Given the description of an element on the screen output the (x, y) to click on. 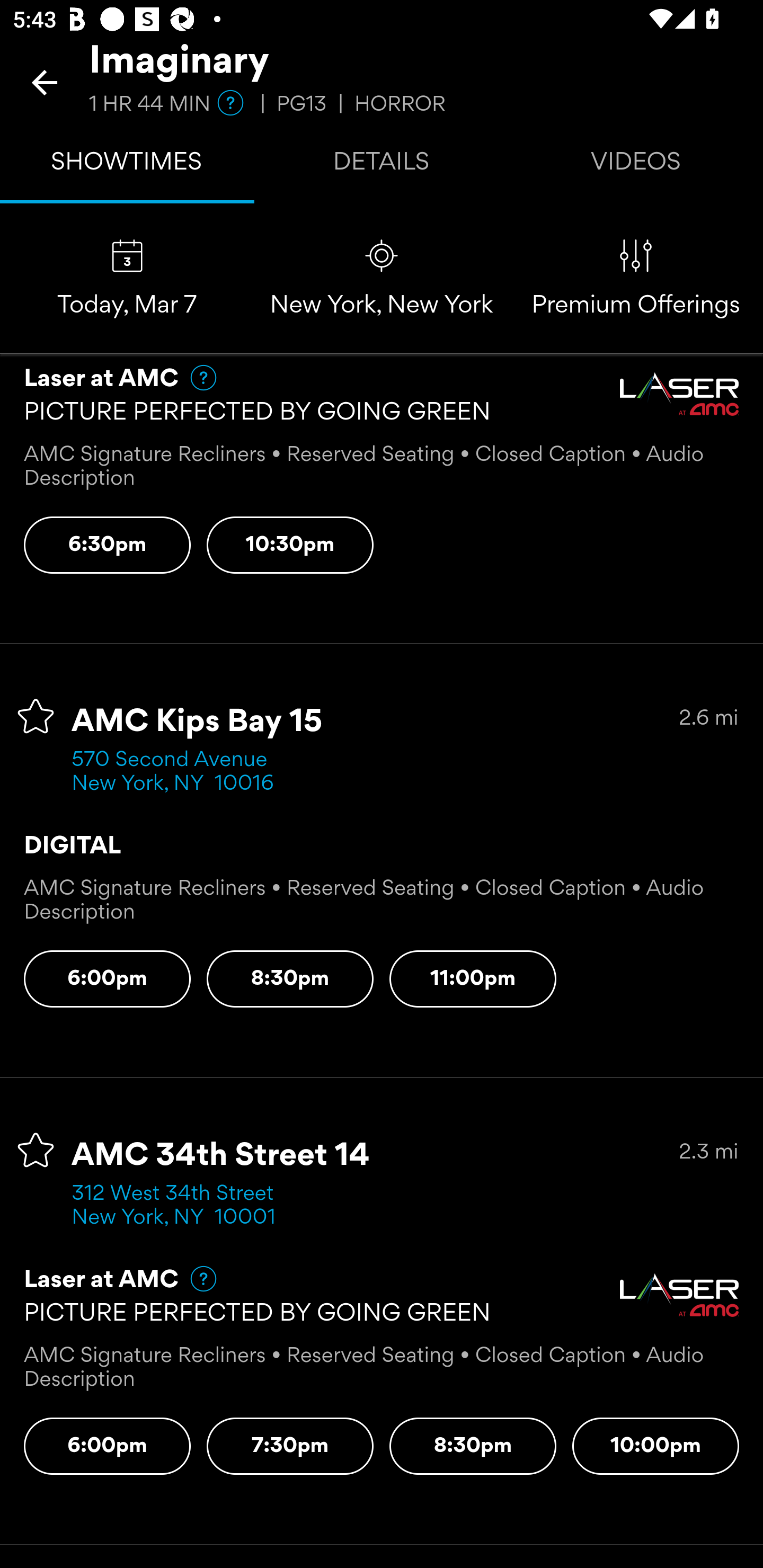
Back (44, 82)
SHOWTIMES
Tab 1 of 3 (127, 165)
DETAILS
Tab 2 of 3 (381, 165)
VIDEOS
Tab 3 of 3 (635, 165)
Change selected day
Today, Mar 7 (127, 279)
Change location
New York, New York (381, 279)
Premium Offerings
Premium Offerings (635, 279)
Help (195, 377)
AMC Kips Bay 15 (196, 722)
570 Second Avenue  
New York, NY  10016 (175, 771)
AMC Kips Bay 15 DIGITAL 6:00pm Showtime Button (106, 978)
AMC Kips Bay 15 DIGITAL 8:30pm Showtime Button (289, 978)
AMC Kips Bay 15 DIGITAL 11:00pm Showtime Button (472, 978)
AMC 34th Street 14 (220, 1156)
312 West 34th Street  
New York, NY  10001 (178, 1205)
Help (195, 1278)
